Given the description of an element on the screen output the (x, y) to click on. 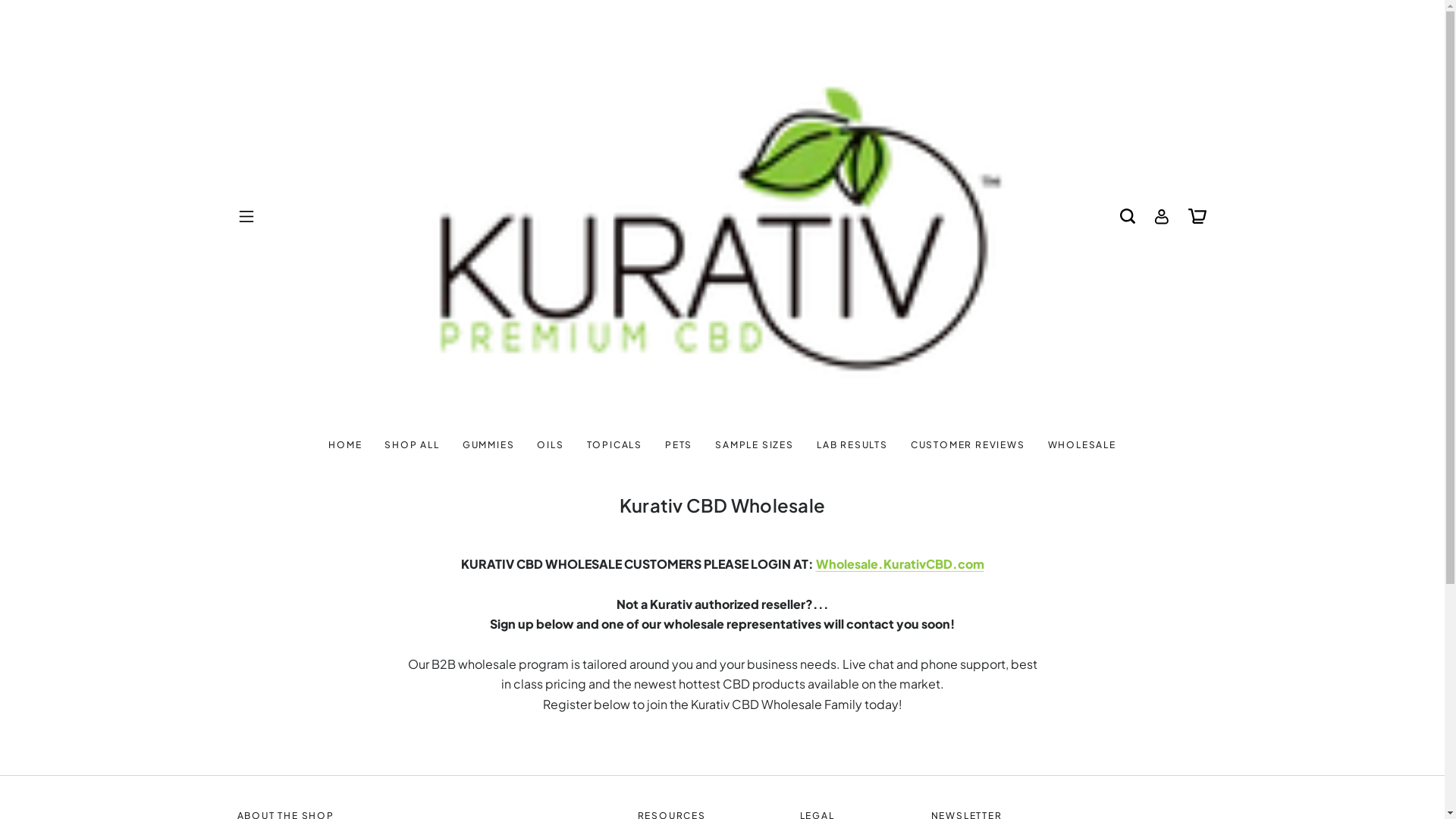
Wholesale.KurativCBD.com (411, 444)
